Given the description of an element on the screen output the (x, y) to click on. 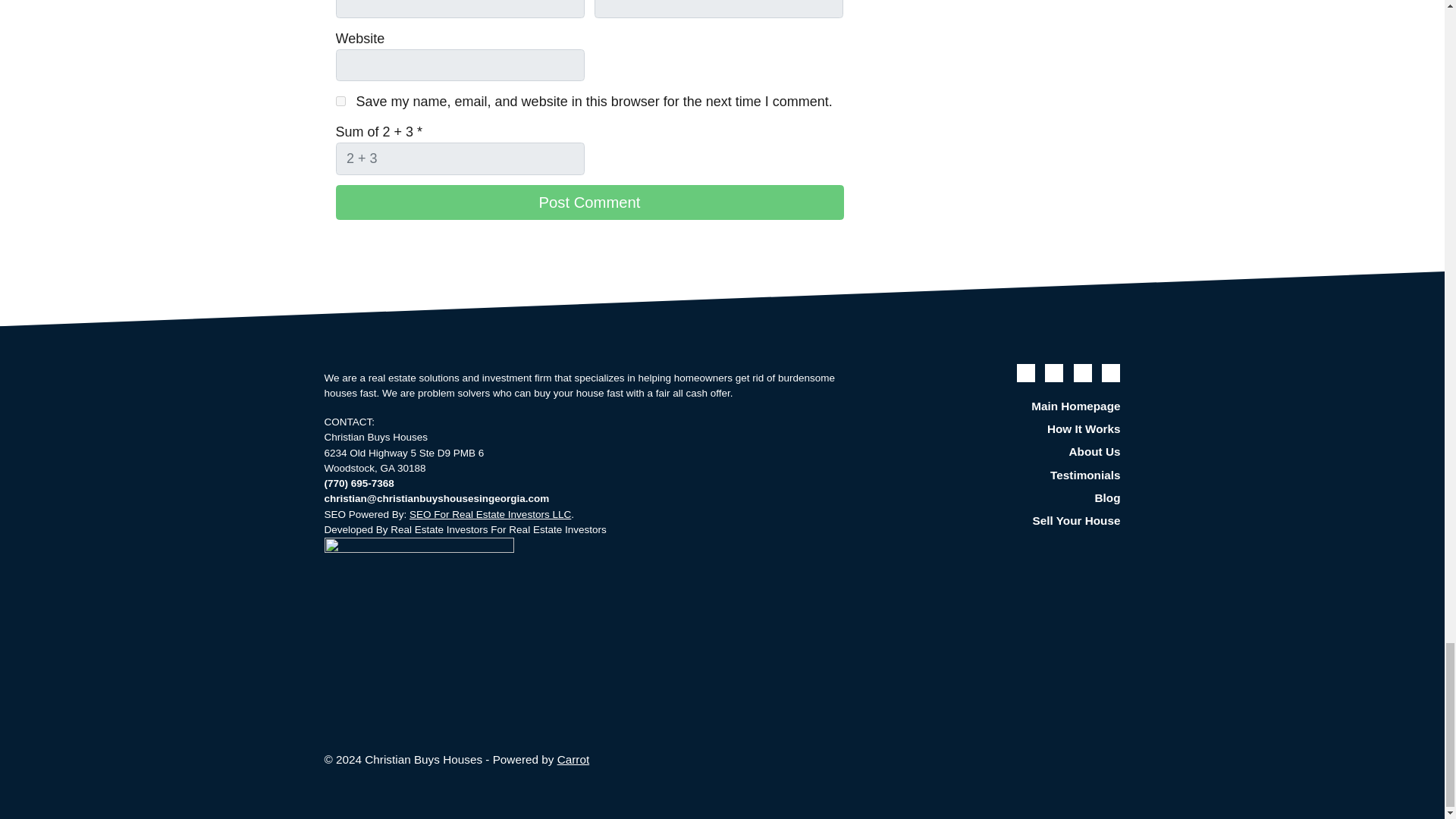
Main Homepage (995, 406)
YouTube (1053, 372)
yes (339, 101)
Instagram (1110, 372)
Post Comment (588, 202)
How It Works (995, 429)
Facebook (1025, 372)
Post Comment (588, 202)
LinkedIn (1083, 372)
